Given the description of an element on the screen output the (x, y) to click on. 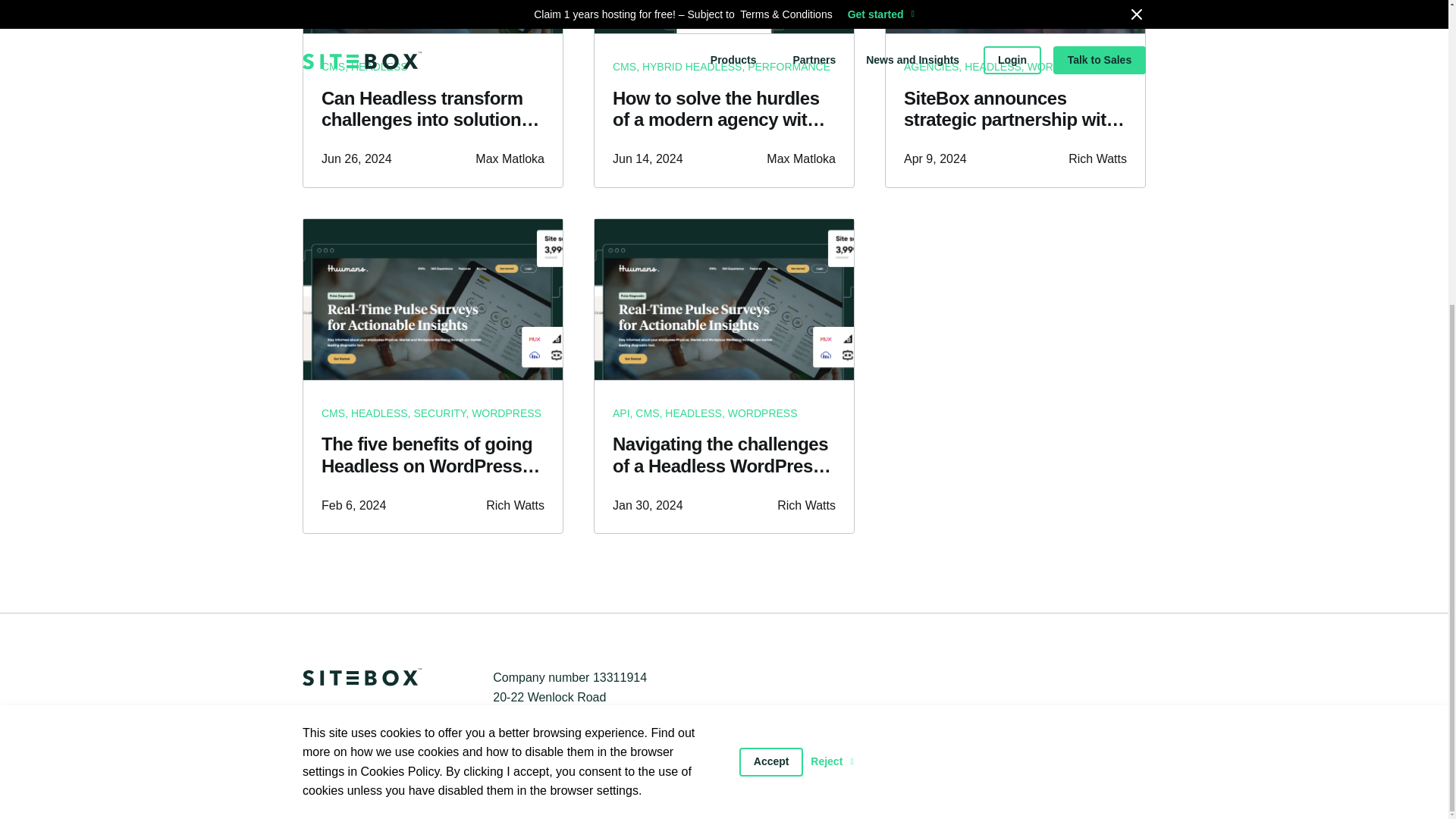
HEADLESS (992, 66)
AGENCIES (931, 66)
CMS (333, 74)
WORDPRESS (1062, 66)
CMS (624, 66)
SiteBox announces strategic partnership with MAGNET   (1015, 109)
PERFORMANCE (788, 66)
HEADLESS (378, 71)
HYBRID HEADLESS (691, 66)
CMS (333, 413)
